Given the description of an element on the screen output the (x, y) to click on. 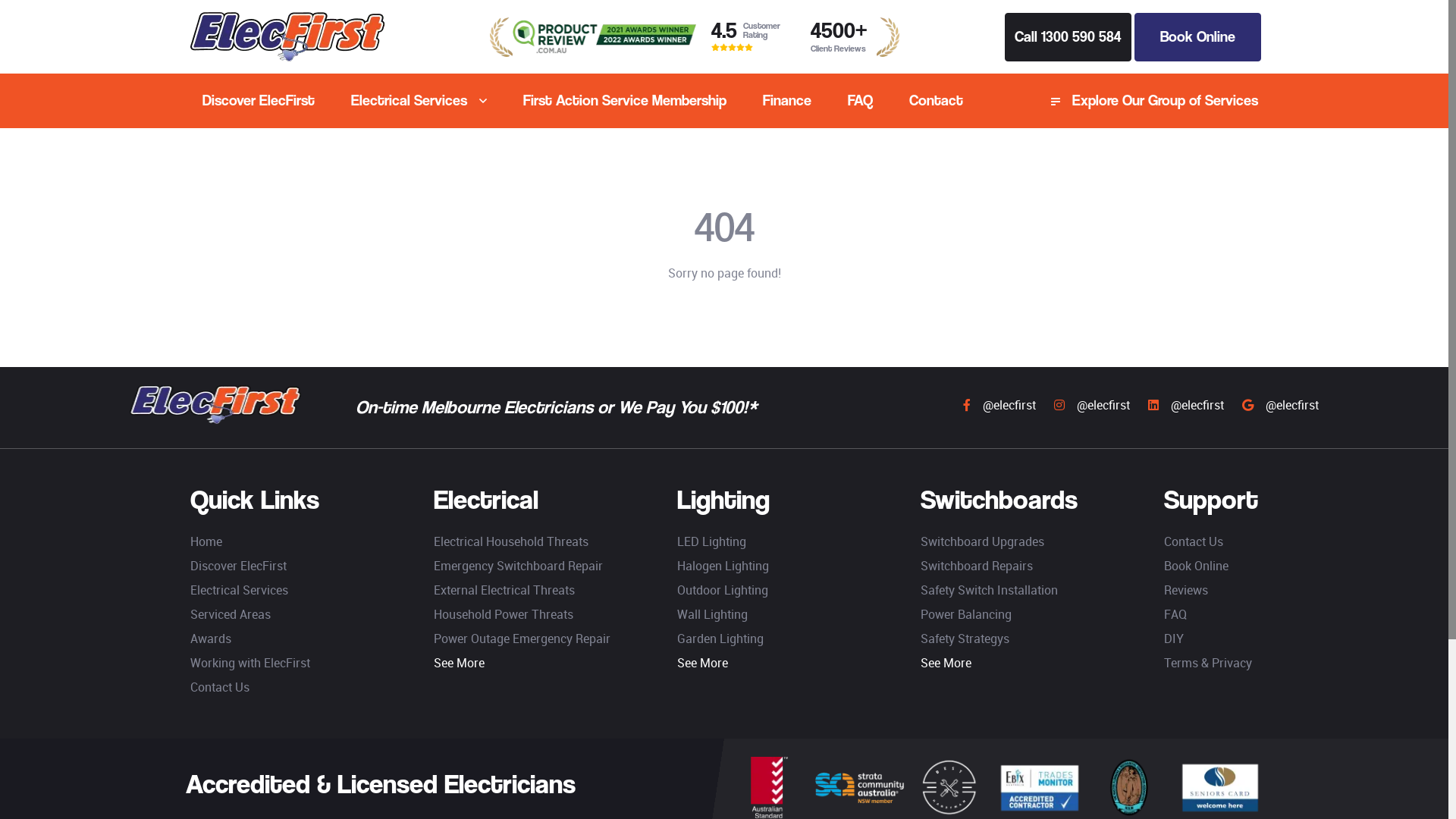
@elecfirst Element type: text (999, 404)
Halogen Lighting Element type: text (722, 565)
Home Element type: text (206, 541)
LED Lighting Element type: text (711, 541)
Contact Us Element type: text (219, 686)
Contact Us Element type: text (1193, 541)
DIY Element type: text (1173, 638)
Electrical Services Element type: text (418, 100)
Discover ElecFirst Element type: text (258, 100)
Electrical Household Threats Element type: text (510, 541)
Emergency Switchboard Repair Element type: text (517, 565)
Power Balancing Element type: text (965, 614)
Switchboard Repairs Element type: text (976, 565)
@elecfirst Element type: text (1091, 404)
Working with ElecFirst Element type: text (250, 662)
Explore Our Group of Services Element type: text (1154, 100)
Contact Element type: text (936, 100)
Switchboard Upgrades Element type: text (982, 541)
@elecfirst Element type: text (1280, 404)
FAQ Element type: text (1175, 614)
Serviced Areas Element type: text (230, 614)
Book Online Element type: text (1197, 36)
HOMEFIRST SERVICES AUSTRALIA PTY LTD Element type: hover (215, 404)
Terms & Privacy Element type: text (1208, 662)
See More Element type: text (945, 662)
First Action Service Membership Element type: text (624, 100)
Household Power Threats Element type: text (503, 614)
HOMEFIRST SERVICES AUSTRALIA PTY LTD Element type: hover (287, 36)
@elecfirst Element type: text (1185, 404)
Wall Lighting Element type: text (712, 614)
External Electrical Threats Element type: text (503, 589)
Finance Element type: text (786, 100)
Outdoor Lighting Element type: text (722, 589)
FAQ Element type: text (859, 100)
Safety Strategys Element type: text (964, 638)
See More Element type: text (458, 662)
Book Online Element type: text (1196, 565)
Safety Switch Installation Element type: text (988, 589)
Garden Lighting Element type: text (720, 638)
Call 1300 590 584 Element type: text (1067, 36)
Electrical Services Element type: text (239, 589)
Power Outage Emergency Repair Element type: text (521, 638)
Awards Element type: text (210, 638)
Discover ElecFirst Element type: text (238, 565)
See More Element type: text (702, 662)
Reviews Element type: text (1186, 589)
